Given the description of an element on the screen output the (x, y) to click on. 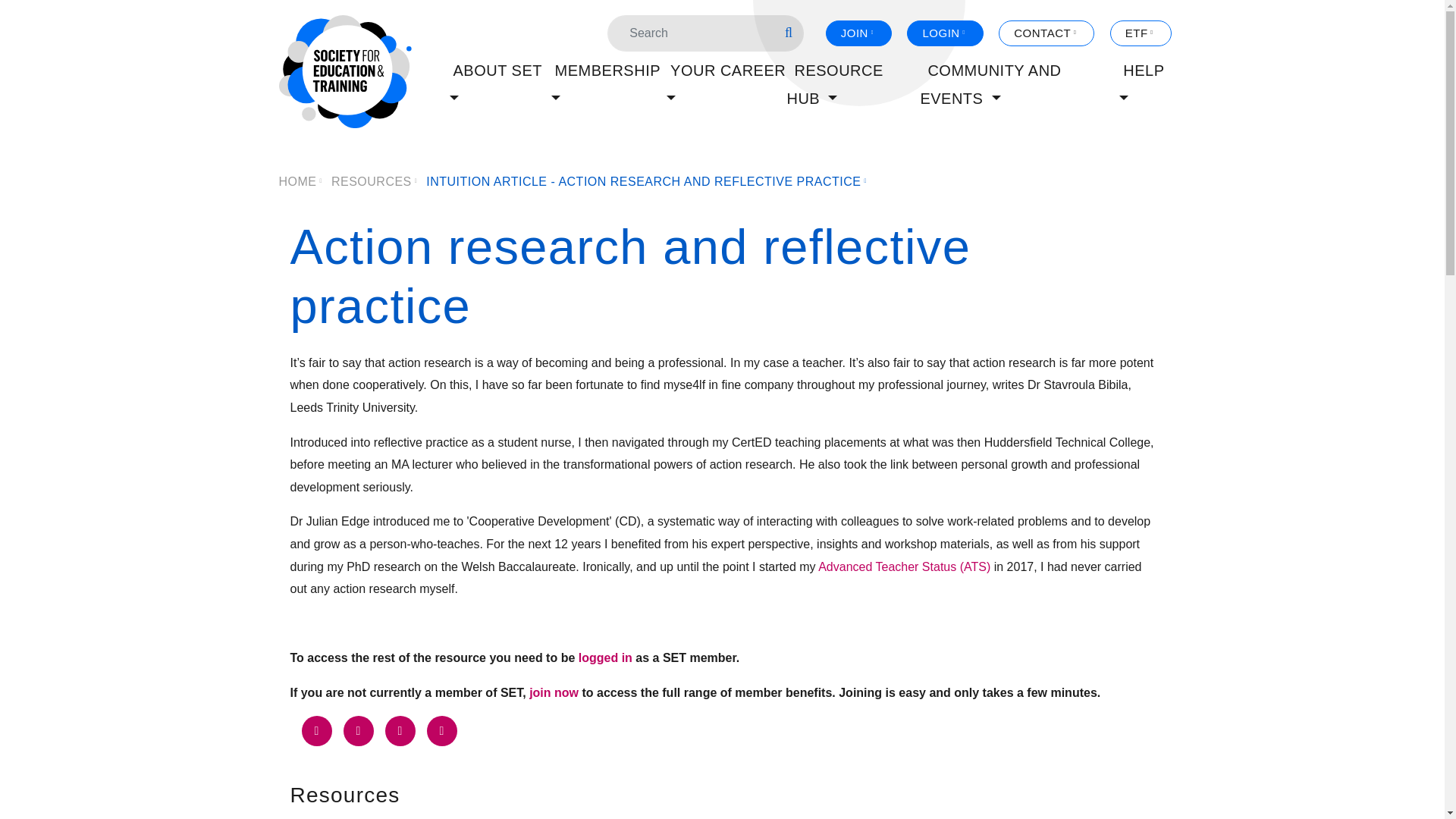
LOGIN (944, 32)
CONTACT (1046, 32)
Membership (553, 692)
HELP (1139, 83)
RESOURCE HUB (834, 83)
YOUR CAREER (724, 83)
MEMBERSHIP (604, 83)
ABOUT SET (493, 83)
Login (604, 657)
JOIN (858, 32)
